Given the description of an element on the screen output the (x, y) to click on. 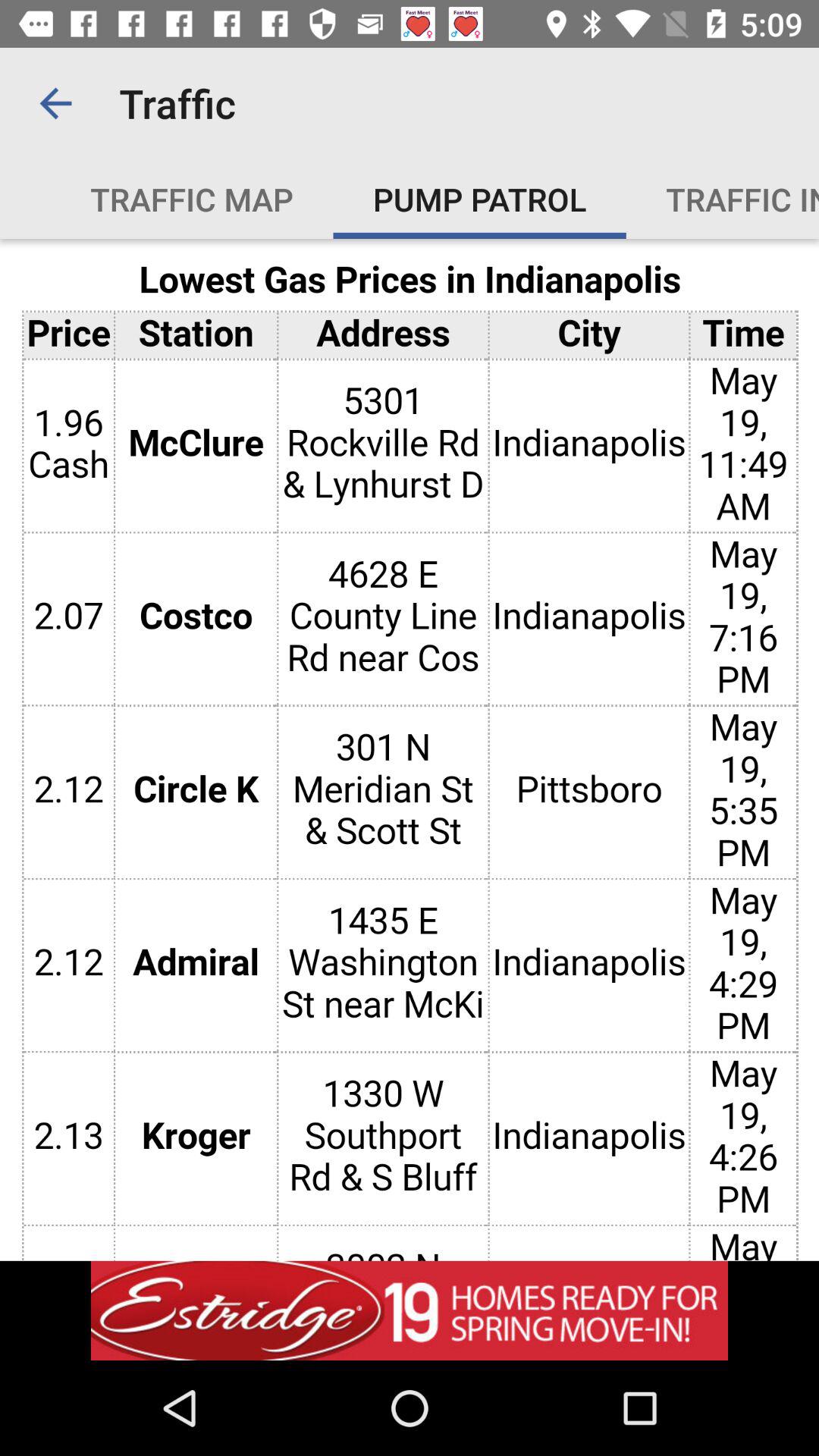
advertisement page (409, 1310)
